Given the description of an element on the screen output the (x, y) to click on. 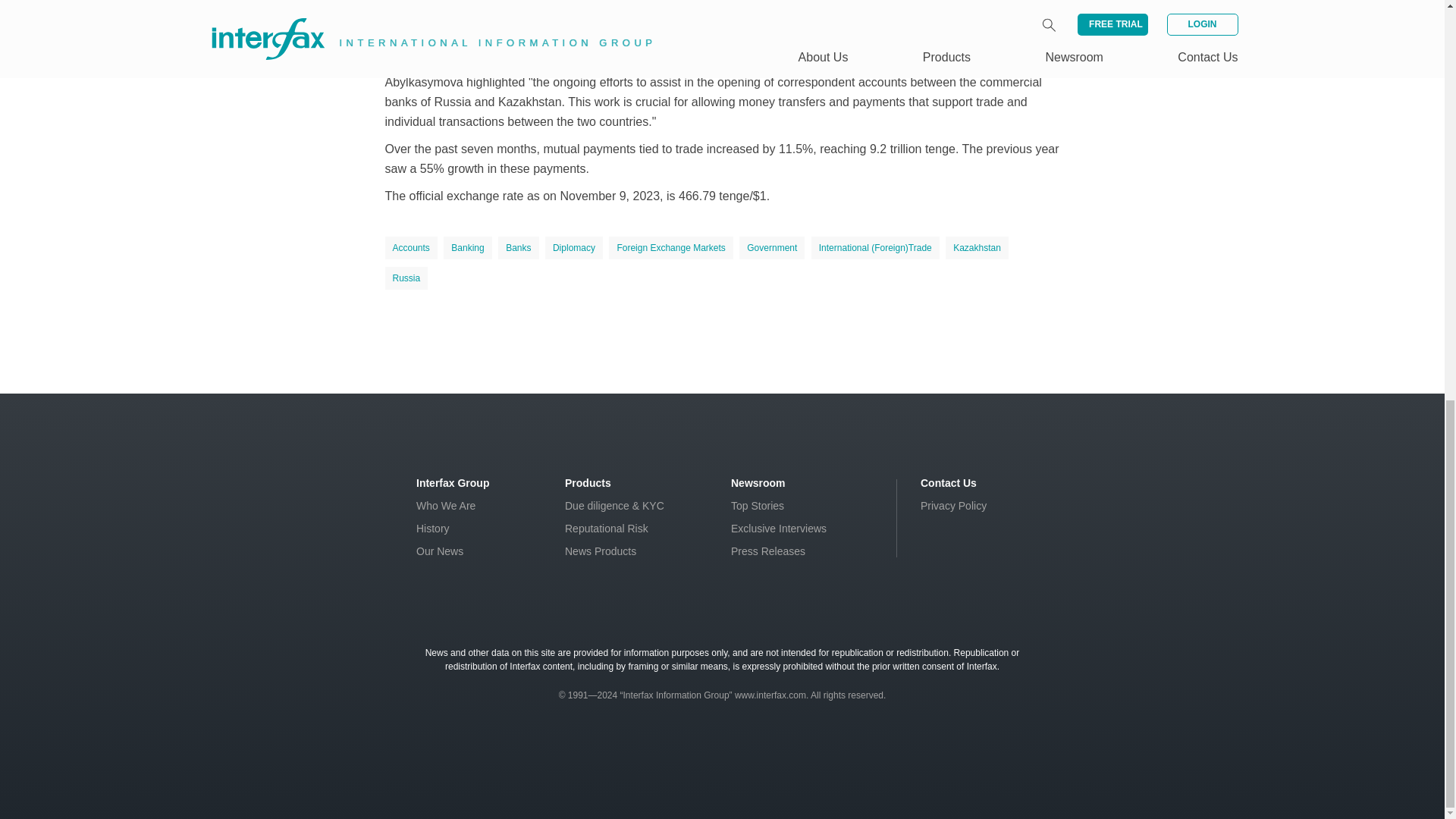
Banks (517, 247)
Accounts (411, 247)
Banking (468, 247)
Diplomacy (573, 247)
